Given the description of an element on the screen output the (x, y) to click on. 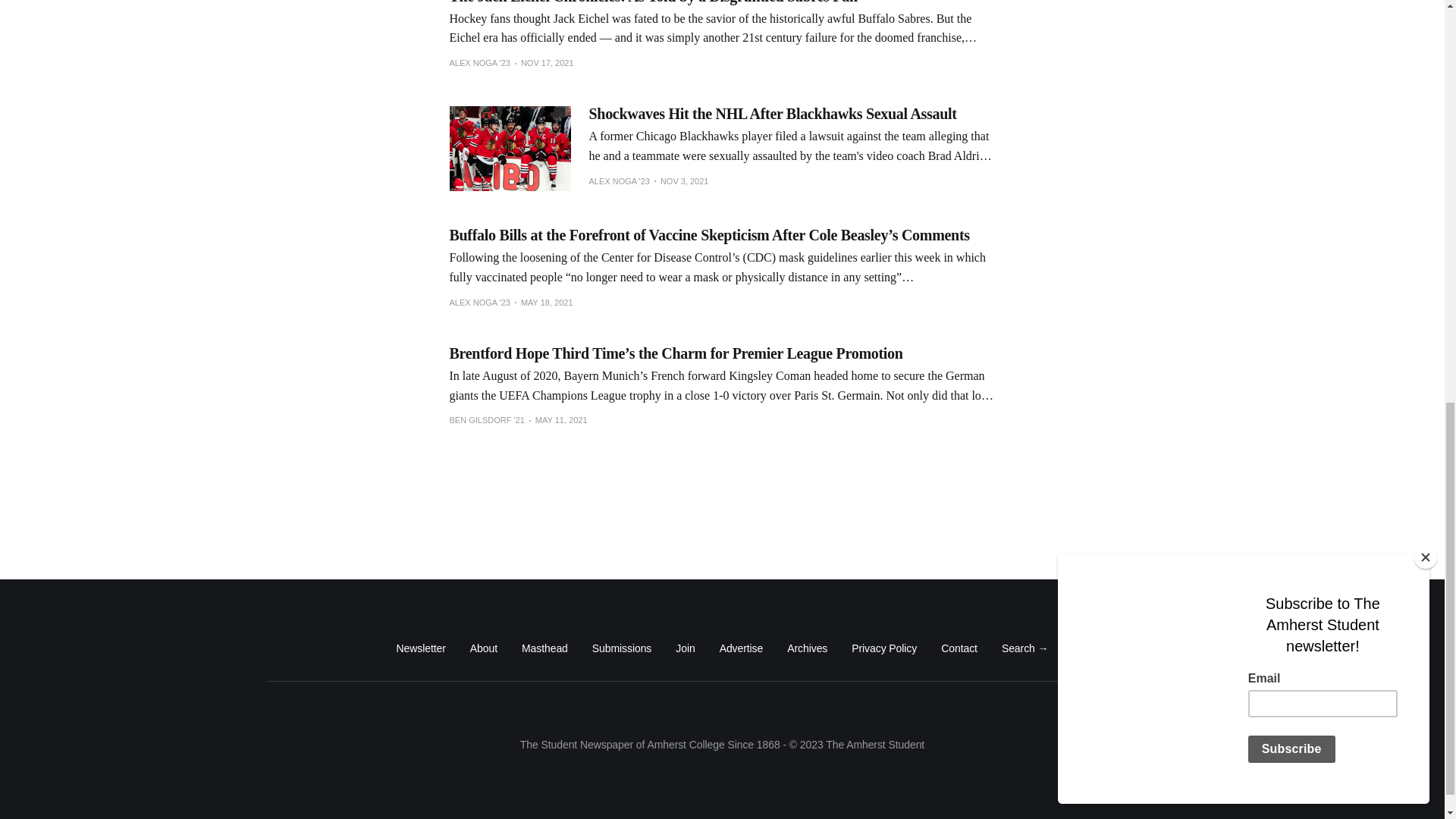
Newsletter (420, 647)
Advertise (740, 647)
Contact (958, 647)
Masthead (544, 647)
About (483, 647)
Join (684, 647)
Submissions (621, 647)
Archives (807, 647)
Privacy Policy (884, 647)
